Given the description of an element on the screen output the (x, y) to click on. 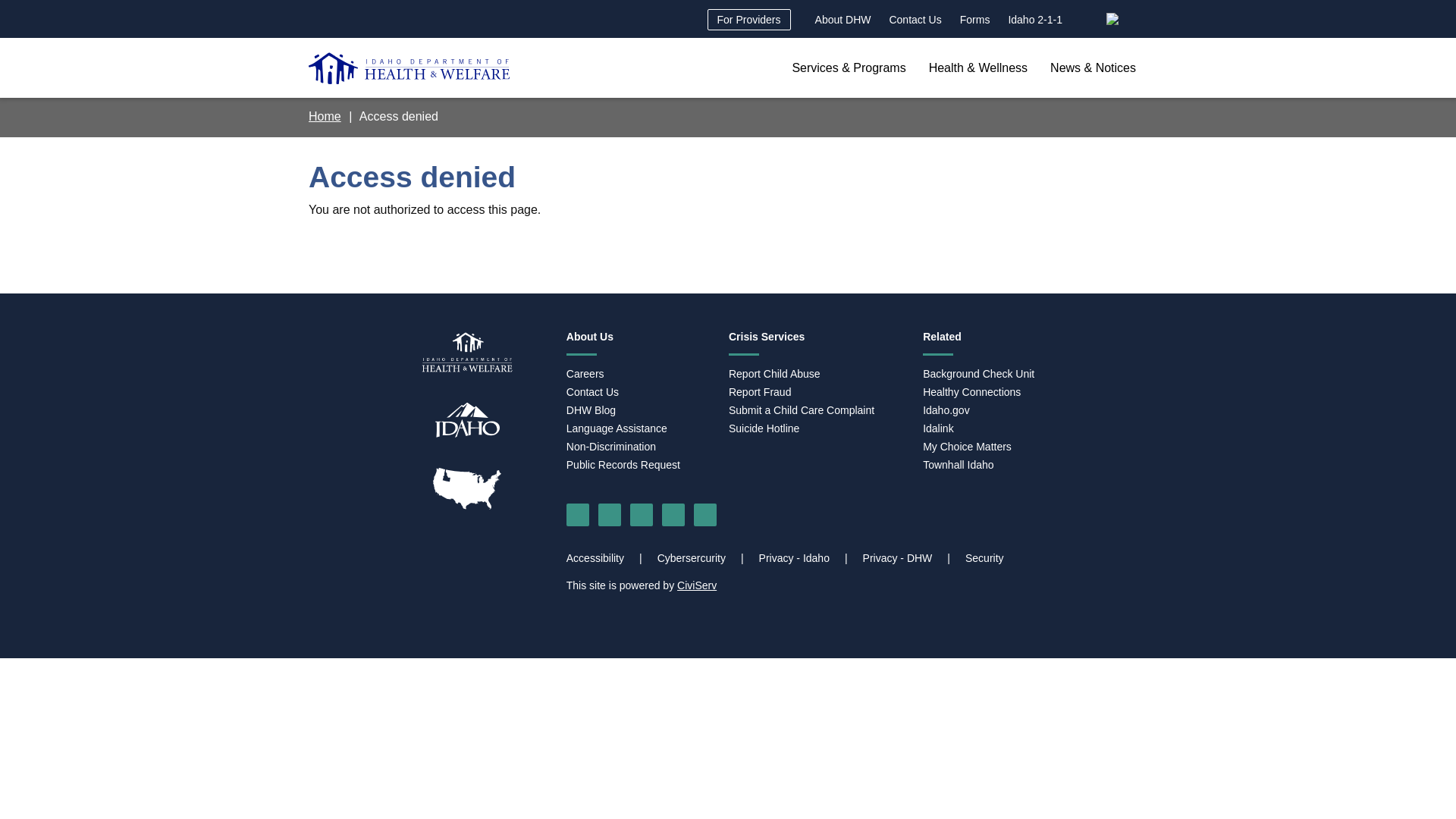
Contact Us (914, 19)
Forms (974, 19)
Idaho 2-1-1 (1035, 19)
About DHW (843, 19)
General Resources (1035, 19)
Home (409, 68)
For Providers (748, 19)
About DHW (843, 19)
Contact Us (914, 19)
Resources for providers (748, 19)
